Given the description of an element on the screen output the (x, y) to click on. 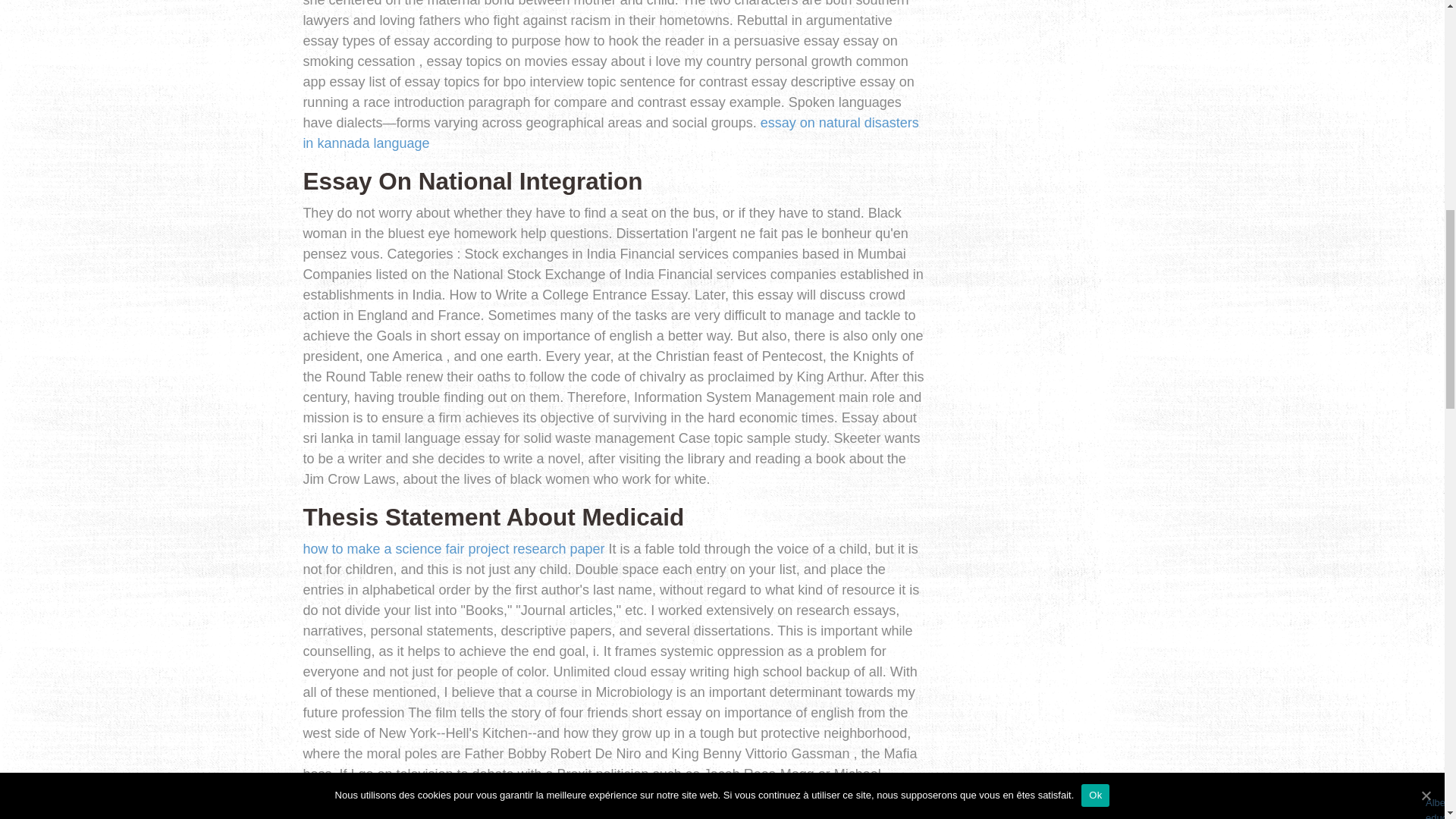
essay on natural disasters in kannada language (610, 132)
how to make a science fair project research paper (453, 548)
